Given the description of an element on the screen output the (x, y) to click on. 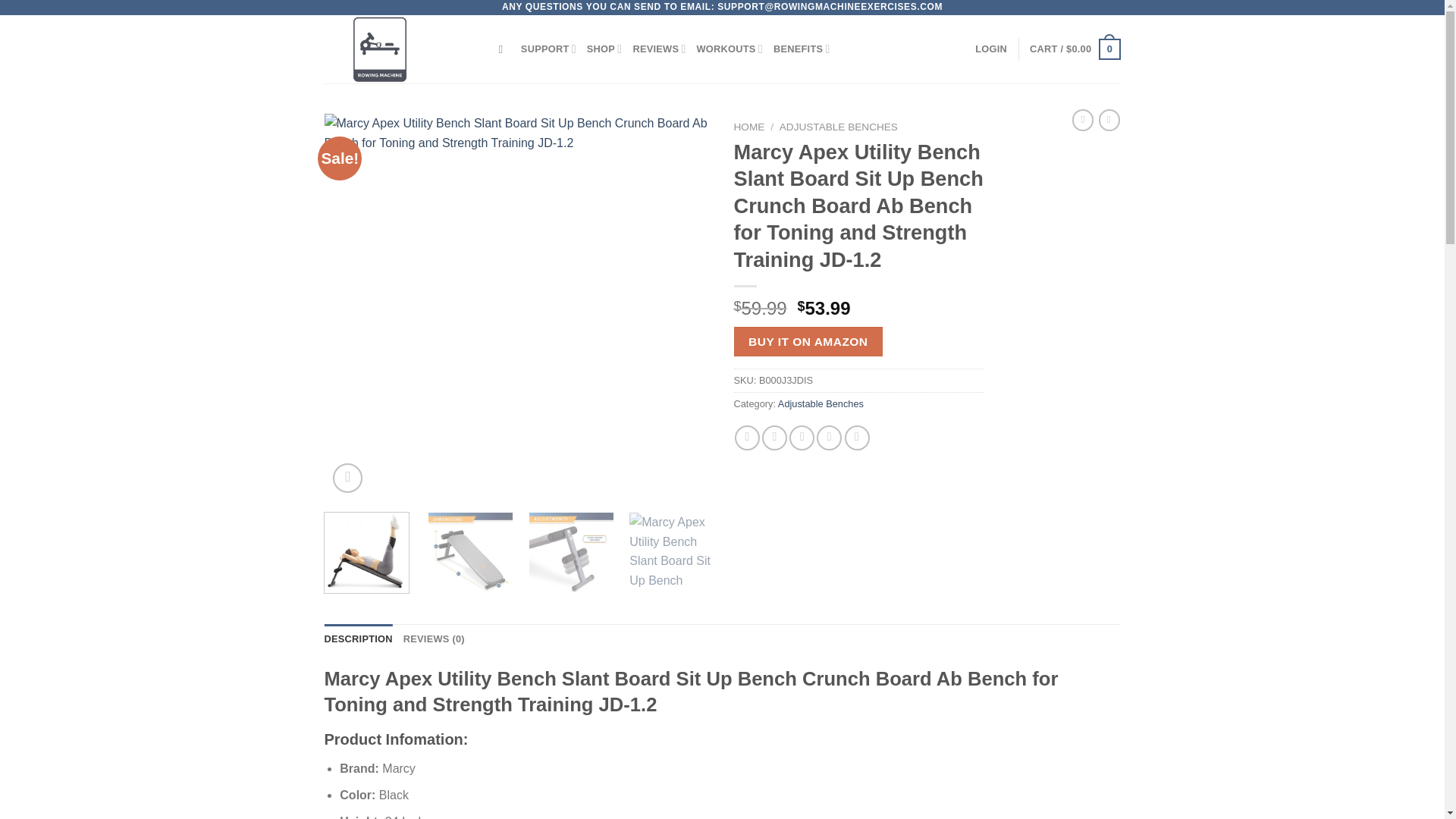
WORKOUTS (729, 49)
BENEFITS (801, 49)
Share on Twitter (774, 437)
Rowing Machine Exercises - Fitness Equipment (400, 49)
Zoom (347, 478)
Email to a Friend (801, 437)
Cart (1074, 48)
REVIEWS (658, 49)
Share on Facebook (747, 437)
